Given the description of an element on the screen output the (x, y) to click on. 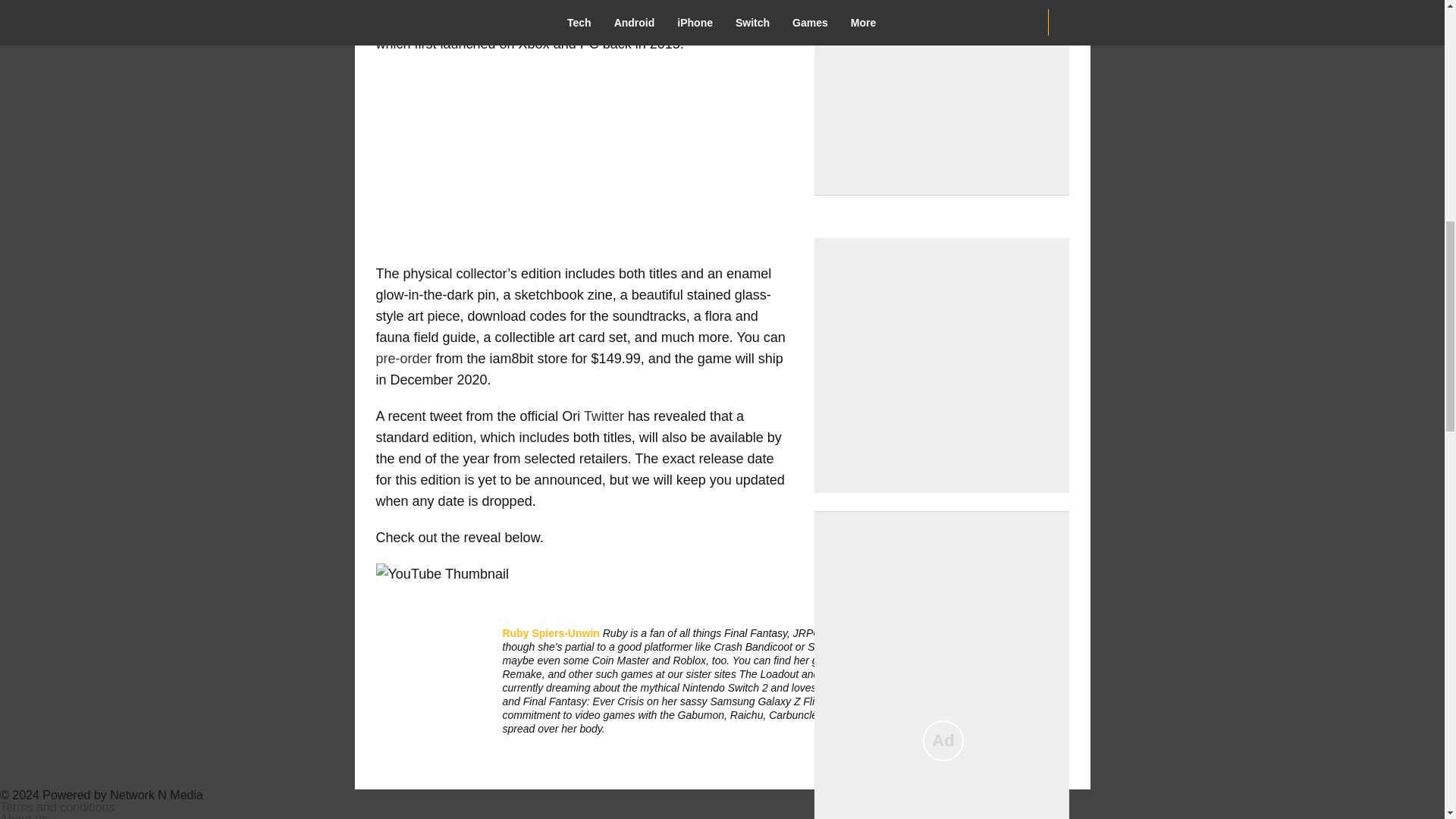
Terms and conditions (57, 807)
About us (24, 816)
pre-order (403, 358)
Ruby Spiers-Unwin (550, 632)
Twitter (603, 416)
